Given the description of an element on the screen output the (x, y) to click on. 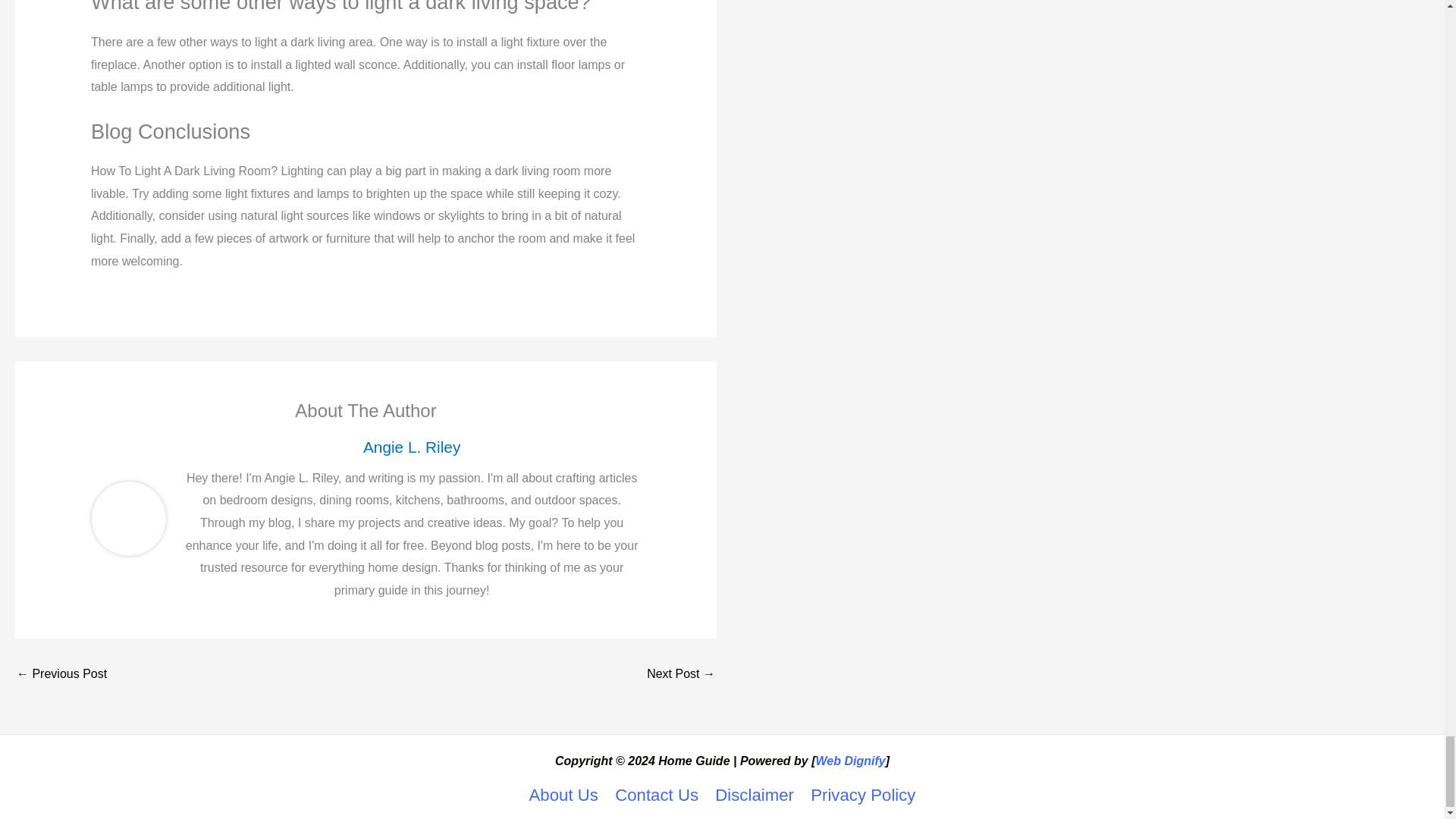
Angie L. Riley (411, 446)
How to clean super ATV windshield (61, 674)
Web Dignify (850, 760)
